Given the description of an element on the screen output the (x, y) to click on. 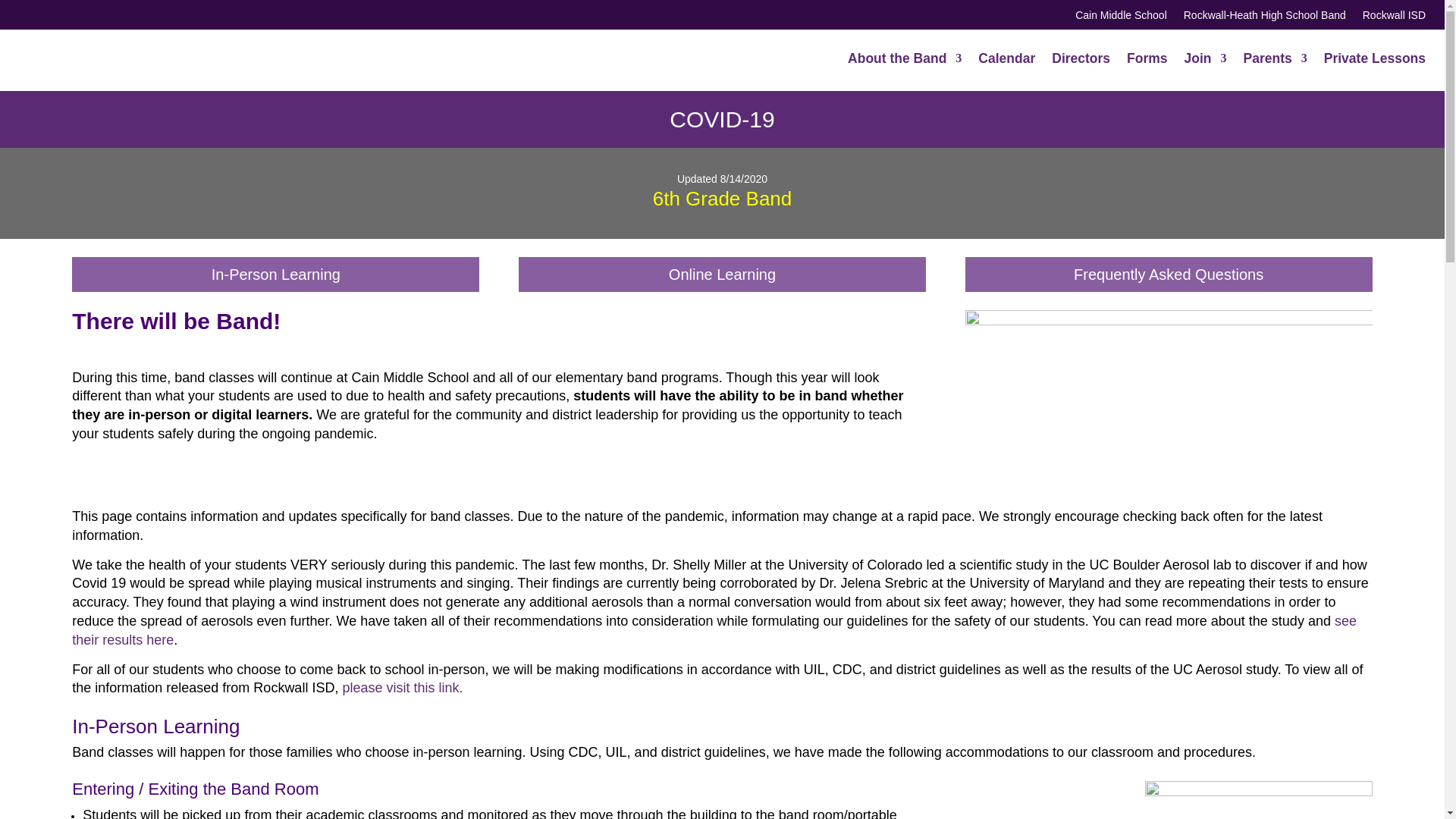
Rockwall-Heath High School Band (1264, 17)
Directors (1080, 57)
please visit this link. (402, 687)
Rockwall ISD (1393, 17)
About the Band (903, 57)
Private Lessons (1374, 57)
timthumb (1169, 399)
Calendar (1006, 57)
Frequently Asked Questions (1167, 274)
Online Learning (722, 274)
In-Person Learning (275, 274)
Cain Middle School (1121, 17)
Parents (1275, 57)
see their results here (713, 630)
